Given the description of an element on the screen output the (x, y) to click on. 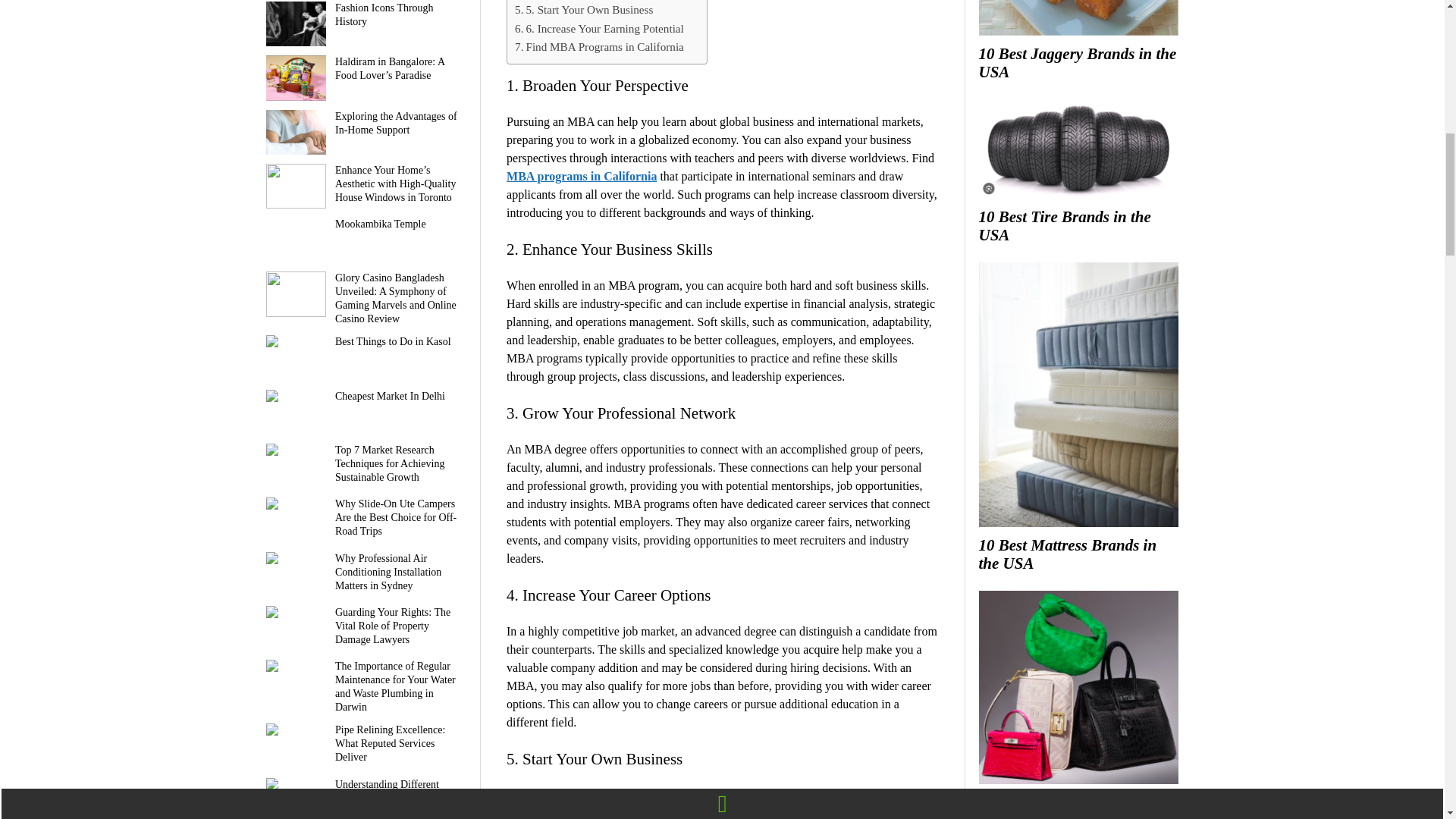
5. Start Your Own Business (583, 9)
Find MBA Programs in California (599, 46)
